Given the description of an element on the screen output the (x, y) to click on. 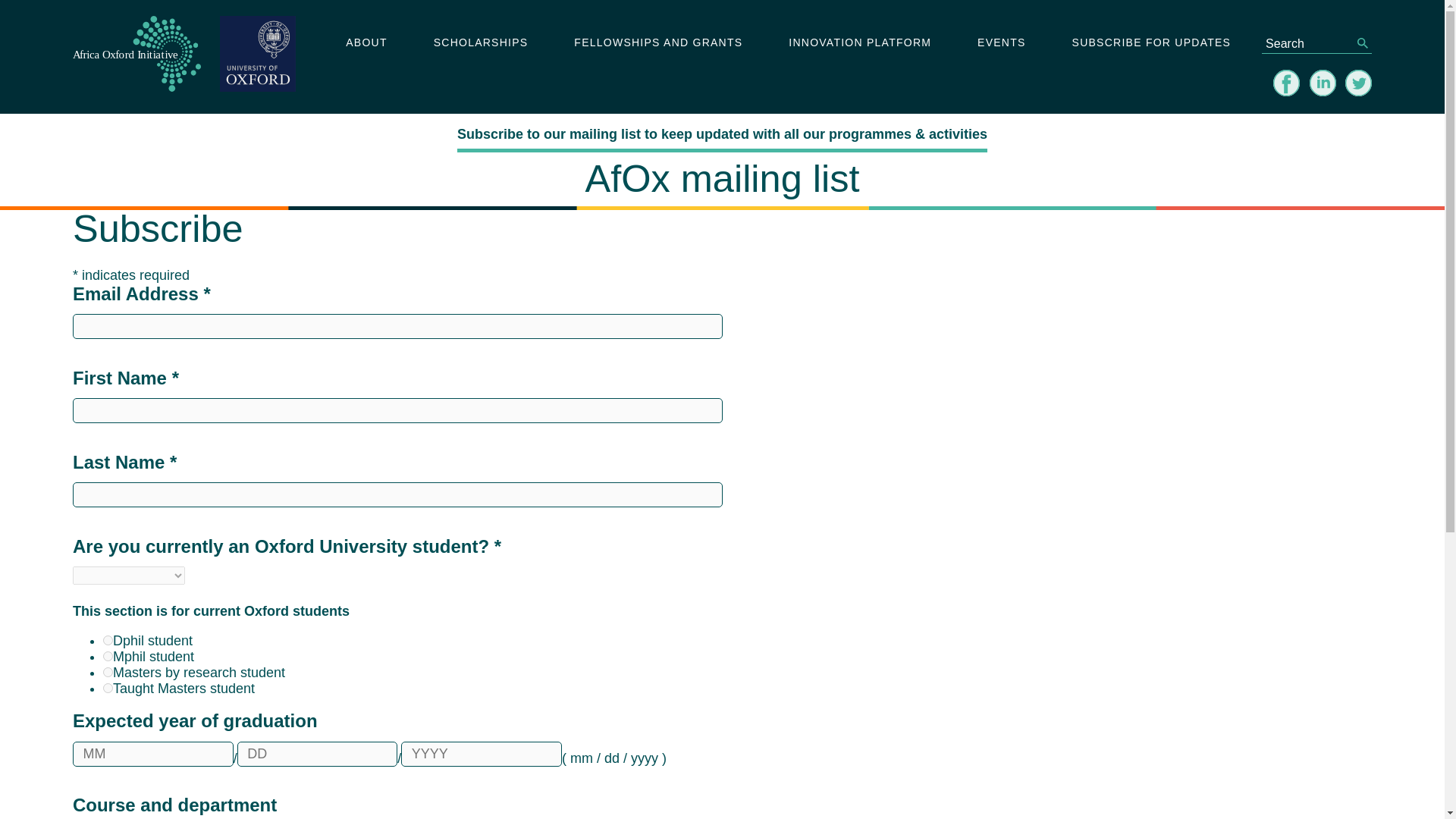
Mphil student (108, 655)
SCHOLARSHIPS (480, 43)
EVENTS (1001, 43)
ABOUT (366, 43)
SUBSCRIBE FOR UPDATES (1151, 43)
Homepage for afox website (136, 56)
INNOVATION PLATFORM (859, 43)
Taught Masters student (108, 687)
Dphil student (108, 640)
